Given the description of an element on the screen output the (x, y) to click on. 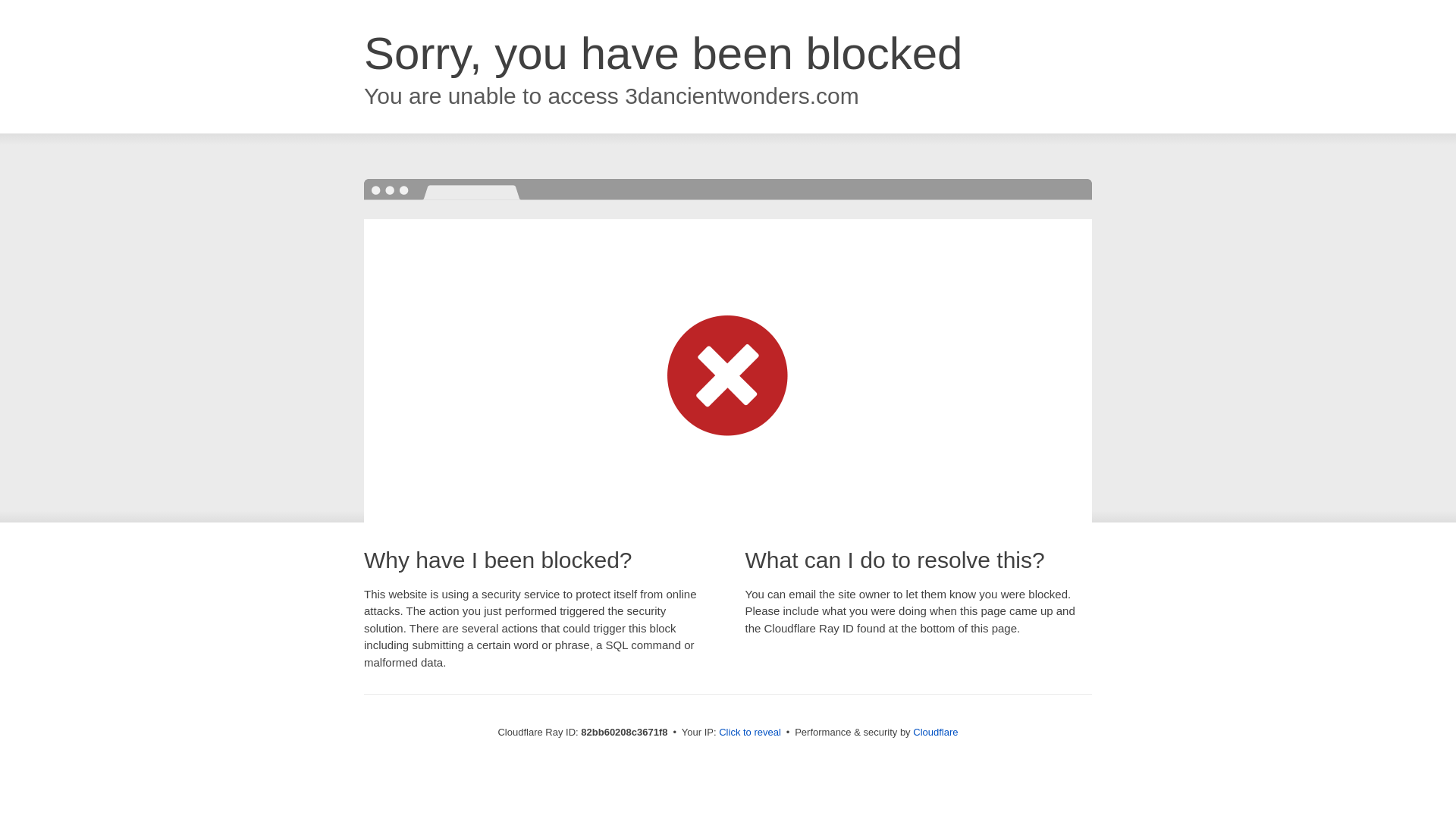
Click to reveal Element type: text (749, 732)
Cloudflare Element type: text (935, 731)
